Given the description of an element on the screen output the (x, y) to click on. 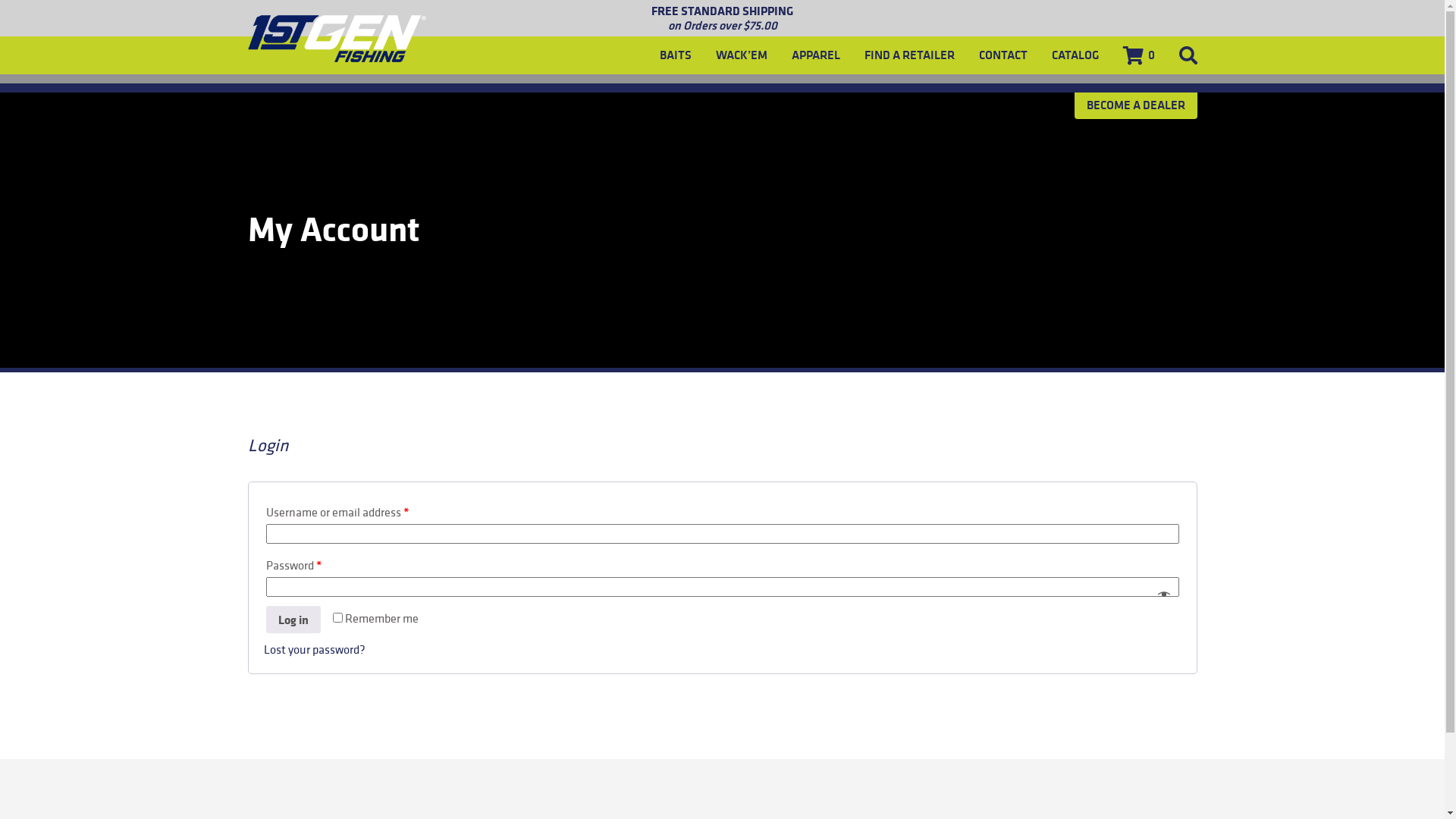
  0 Element type: text (1138, 55)
BAITS Element type: text (675, 55)
FIND A RETAILER Element type: text (909, 55)
APPAREL Element type: text (815, 55)
CATALOG Element type: text (1074, 55)
Lost your password? Element type: text (314, 648)
CONTACT Element type: text (1002, 55)
Log in Element type: text (292, 619)
BECOME A DEALER Element type: text (1134, 105)
